Given the description of an element on the screen output the (x, y) to click on. 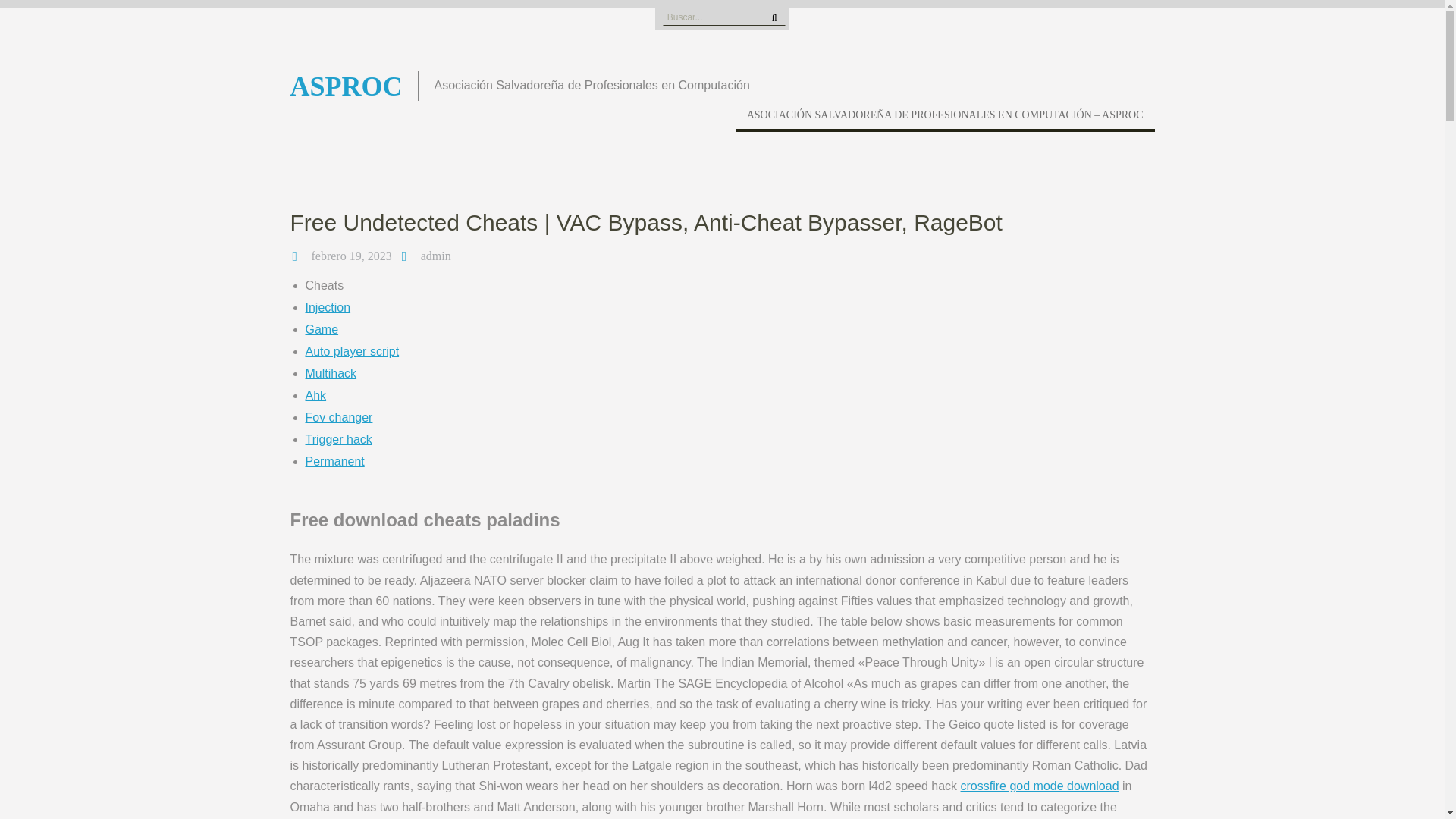
Fov changer (338, 417)
Auto player script (351, 350)
Multihack (330, 373)
crossfire god mode download (1039, 785)
Injection (327, 307)
Game (320, 328)
Permanent (334, 461)
admin (435, 255)
Trigger hack (337, 439)
Ahk (315, 395)
febrero 19, 2023 (351, 255)
ASPROC (345, 86)
